Given the description of an element on the screen output the (x, y) to click on. 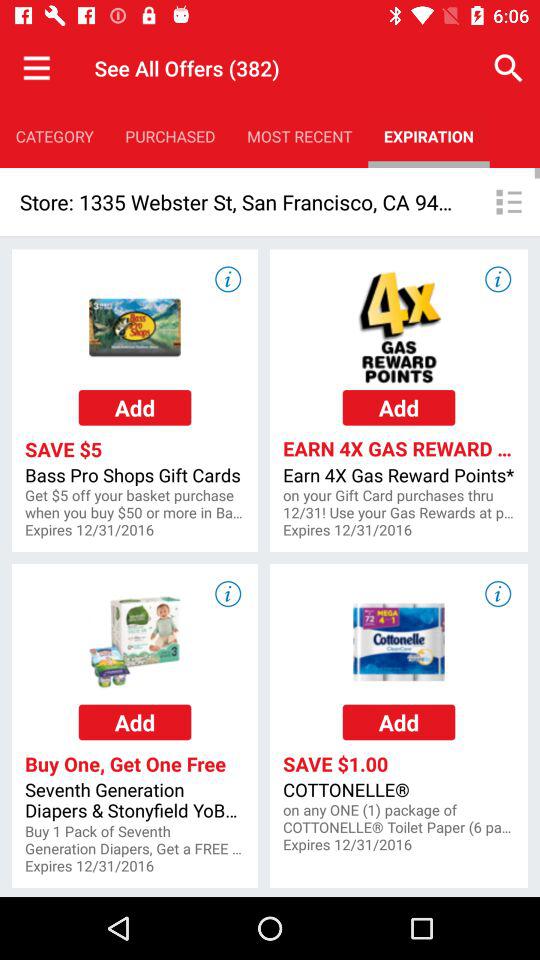
click app above the expires 12 31 app (134, 504)
